Given the description of an element on the screen output the (x, y) to click on. 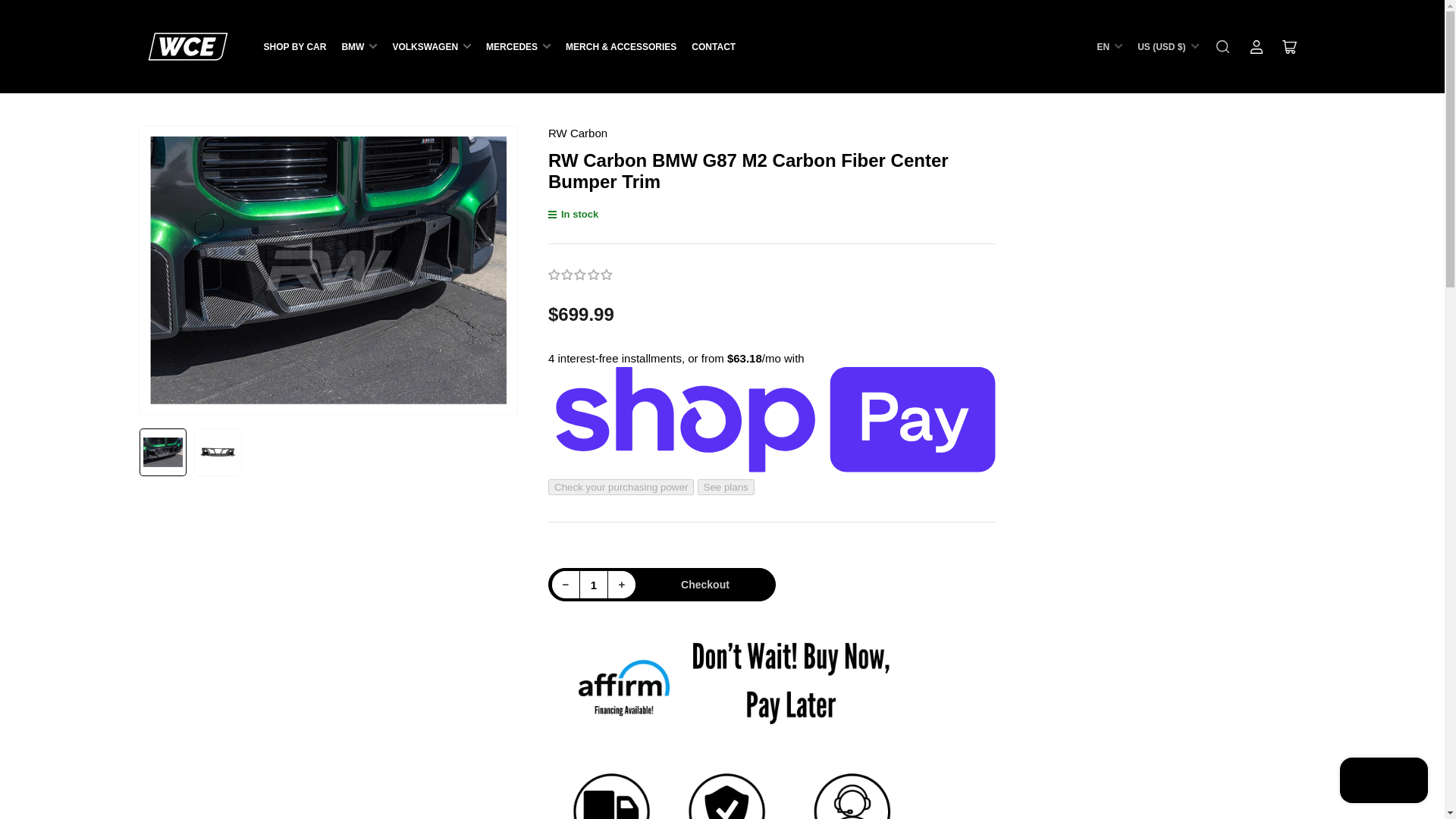
Shopify online store chat (1383, 781)
VOLKSWAGEN (430, 46)
BMW (358, 46)
SHOP BY CAR (294, 46)
1 (593, 584)
